Given the description of an element on the screen output the (x, y) to click on. 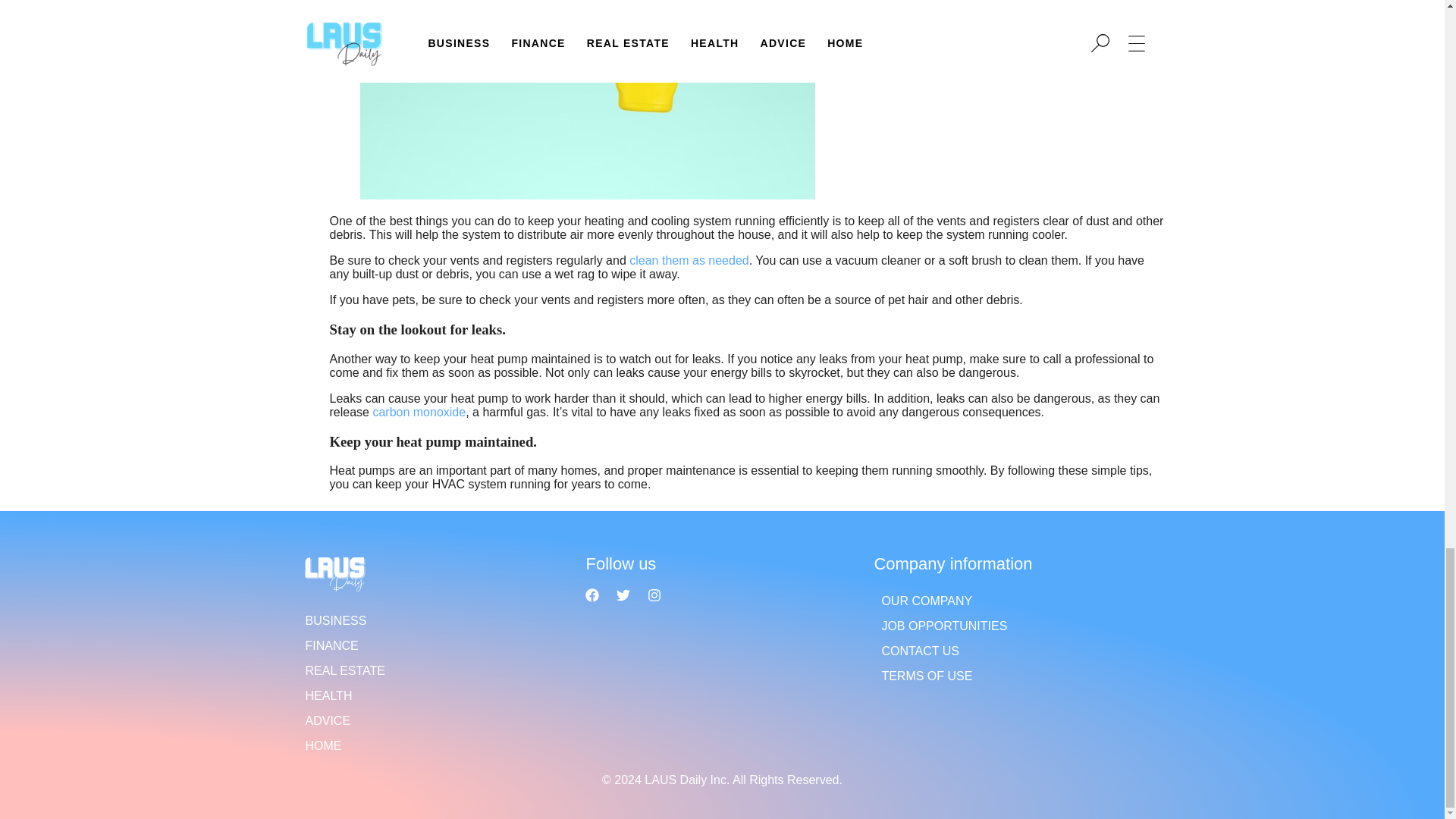
BUSINESS (433, 620)
carbon monoxide (418, 411)
REAL ESTATE (433, 670)
HEALTH (433, 695)
FINANCE (433, 645)
clean them as needed (688, 259)
